Given the description of an element on the screen output the (x, y) to click on. 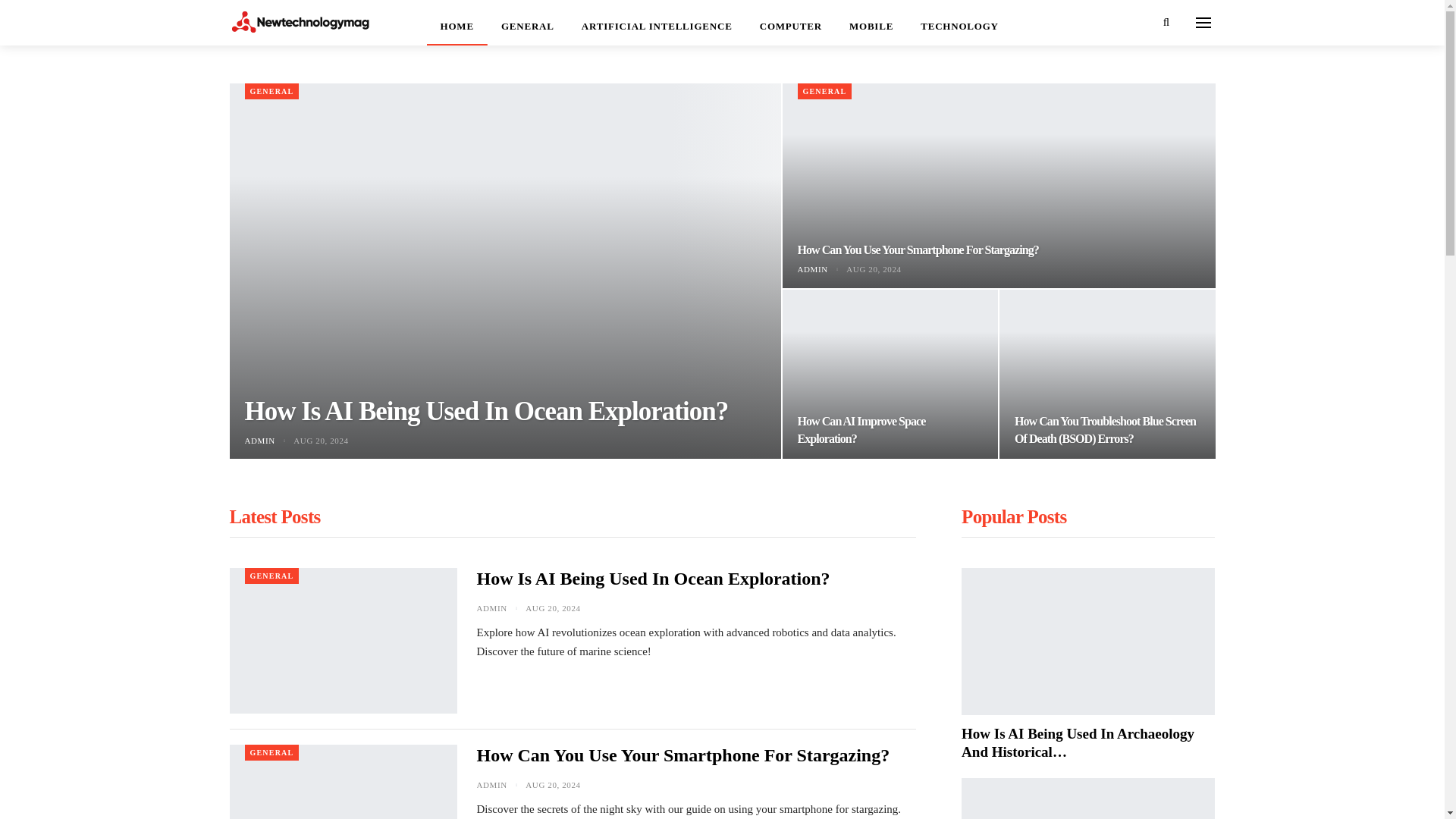
GENERAL (271, 91)
How Is AI Being Used In Ocean Exploration? (652, 578)
MOBILE (871, 22)
COMPUTER (790, 22)
GENERAL (271, 575)
Browse Author Articles (822, 268)
How Is AI Being Used in Ocean Exploration? (342, 640)
Browse Author Articles (500, 784)
How Can You Use Your Smartphone For Stargazing? (918, 249)
